Given the description of an element on the screen output the (x, y) to click on. 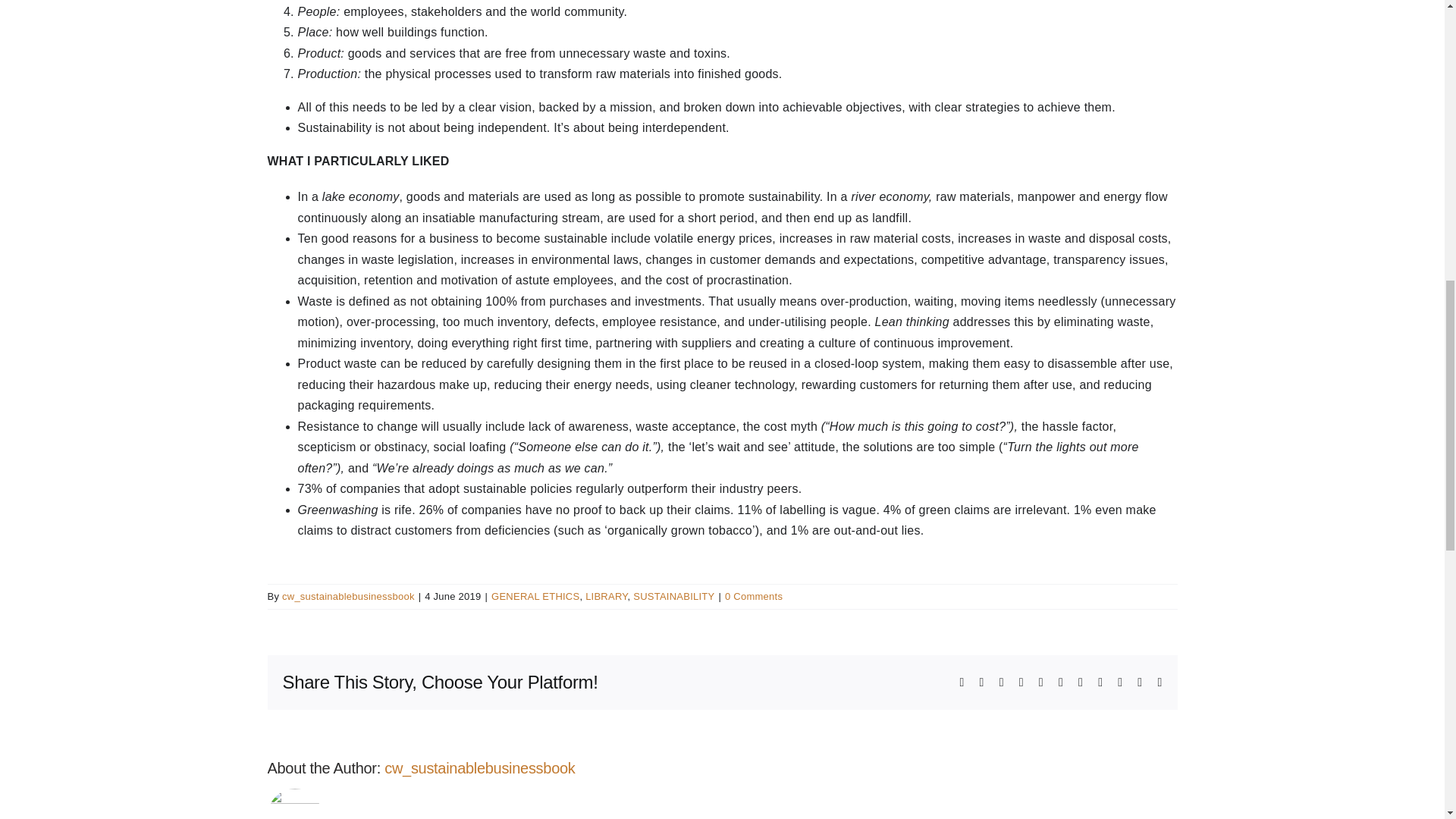
0 Comments (754, 595)
GENERAL ETHICS (535, 595)
LIBRARY (606, 595)
SUSTAINABILITY (673, 595)
